Given the description of an element on the screen output the (x, y) to click on. 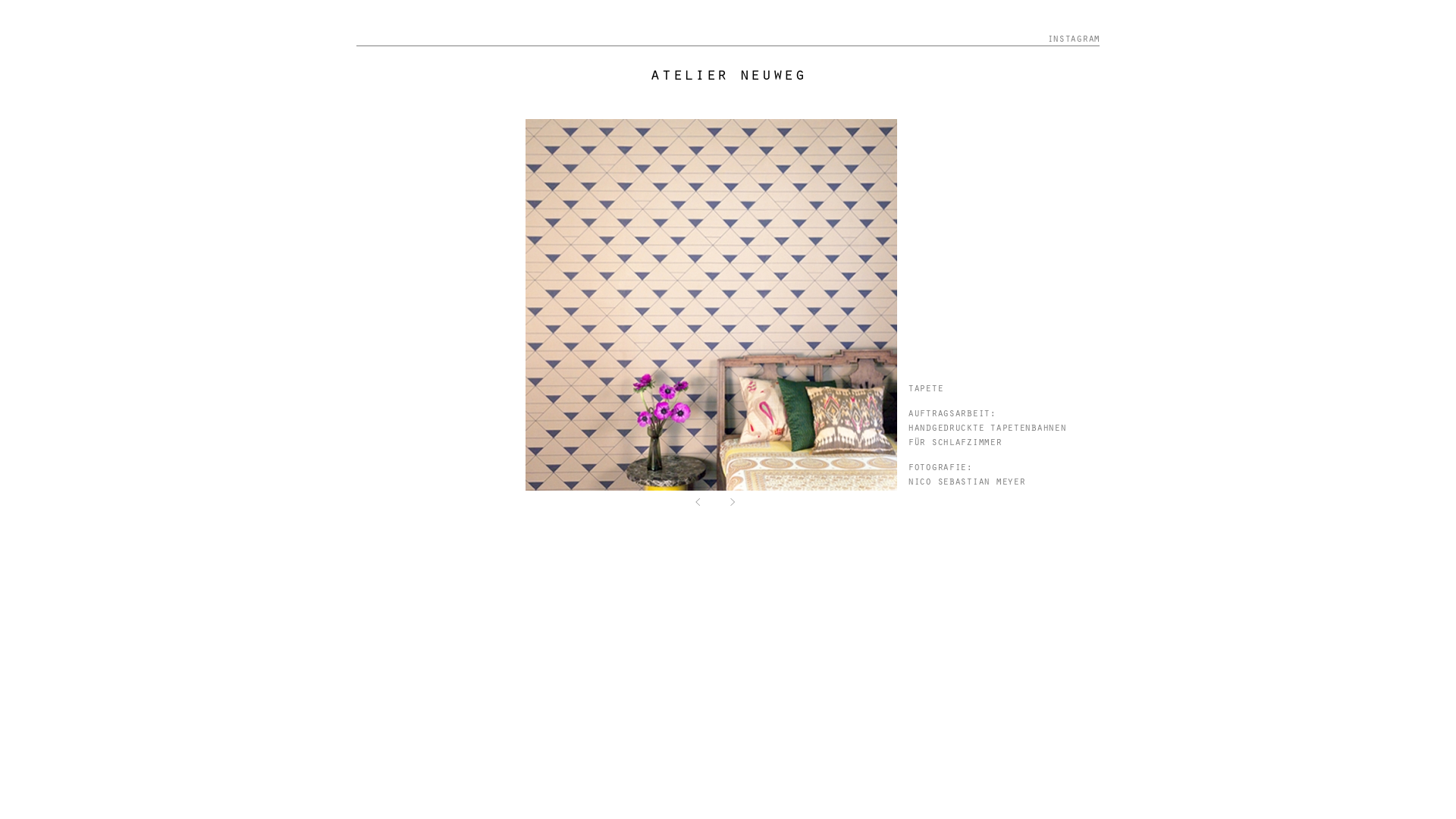
< Element type: text (697, 501)
> Element type: text (732, 501)
instagram Element type: text (1073, 37)
atelier neuweg Element type: text (727, 72)
